Given the description of an element on the screen output the (x, y) to click on. 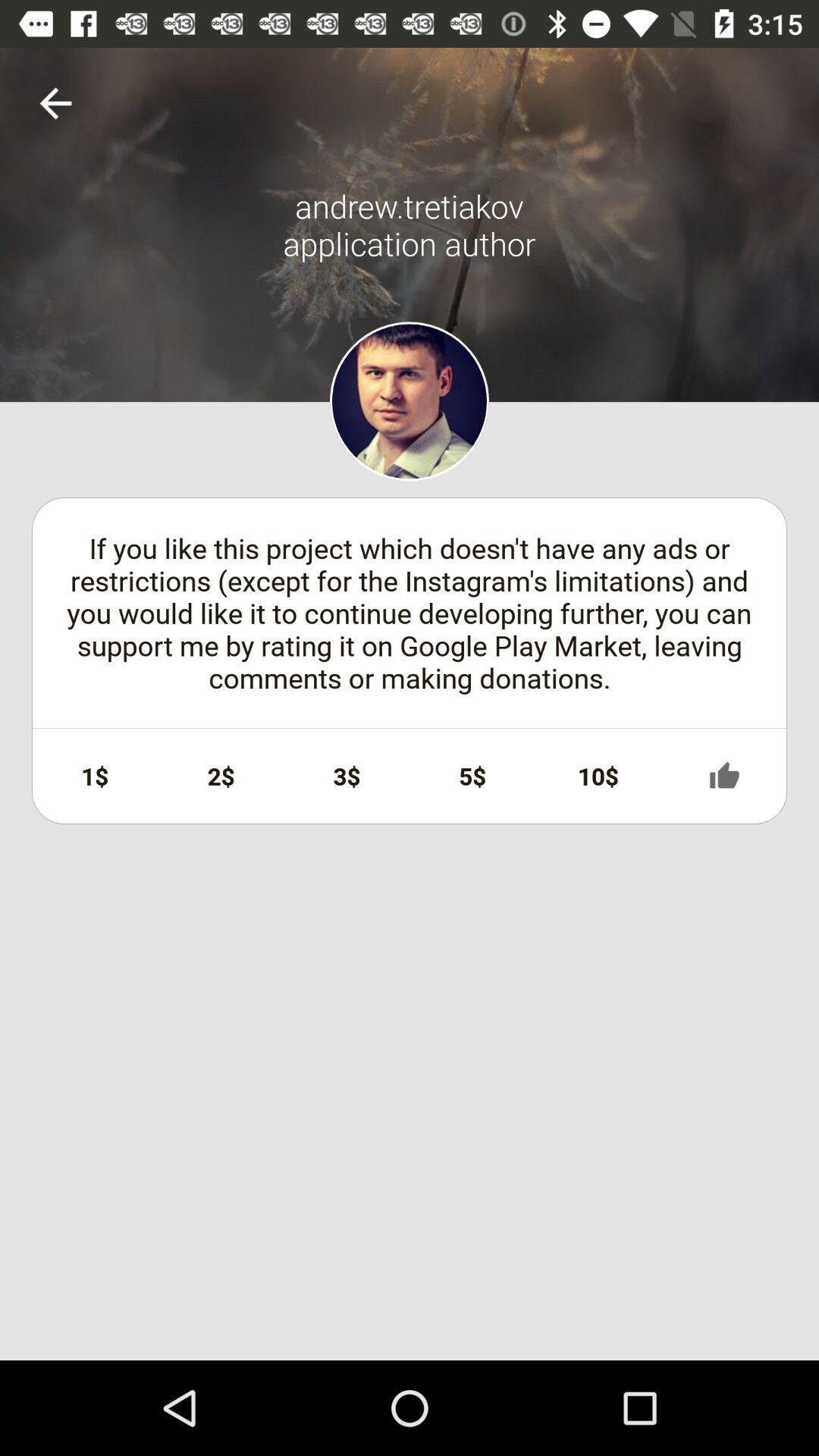
choose the icon next to the 2$ (347, 776)
